Given the description of an element on the screen output the (x, y) to click on. 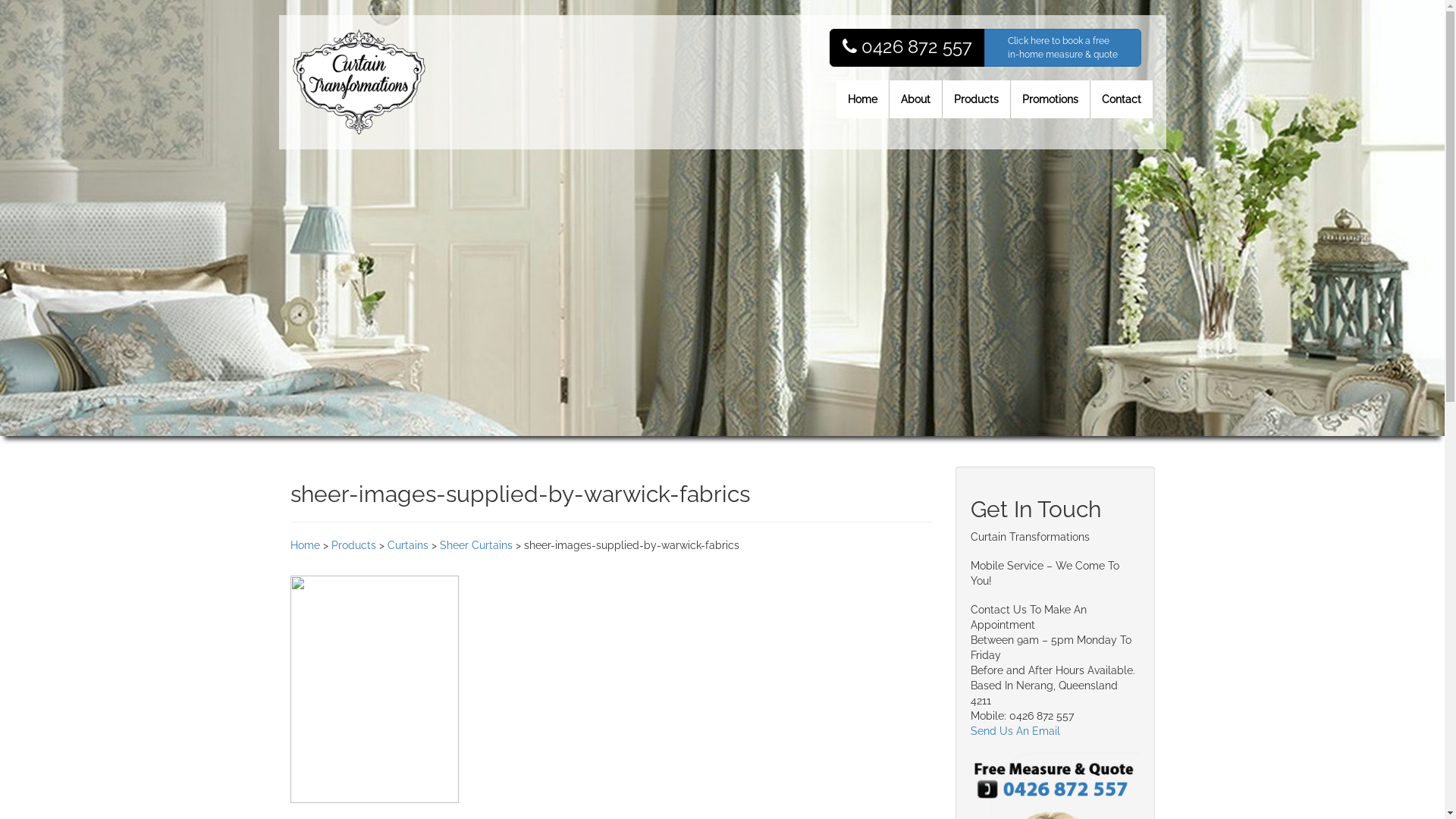
Home Element type: text (861, 99)
Contact Element type: text (1121, 99)
About Element type: text (914, 99)
Sheer Curtains Element type: text (475, 545)
Products Element type: text (975, 99)
Products Element type: text (352, 545)
Home Element type: text (304, 545)
Click here to book a free
in-home measure & quote Element type: text (1062, 47)
0426 872 557 Element type: text (907, 47)
Send Us An Email Element type: text (1015, 730)
Promotions Element type: text (1049, 99)
Curtains Element type: text (406, 545)
